Given the description of an element on the screen output the (x, y) to click on. 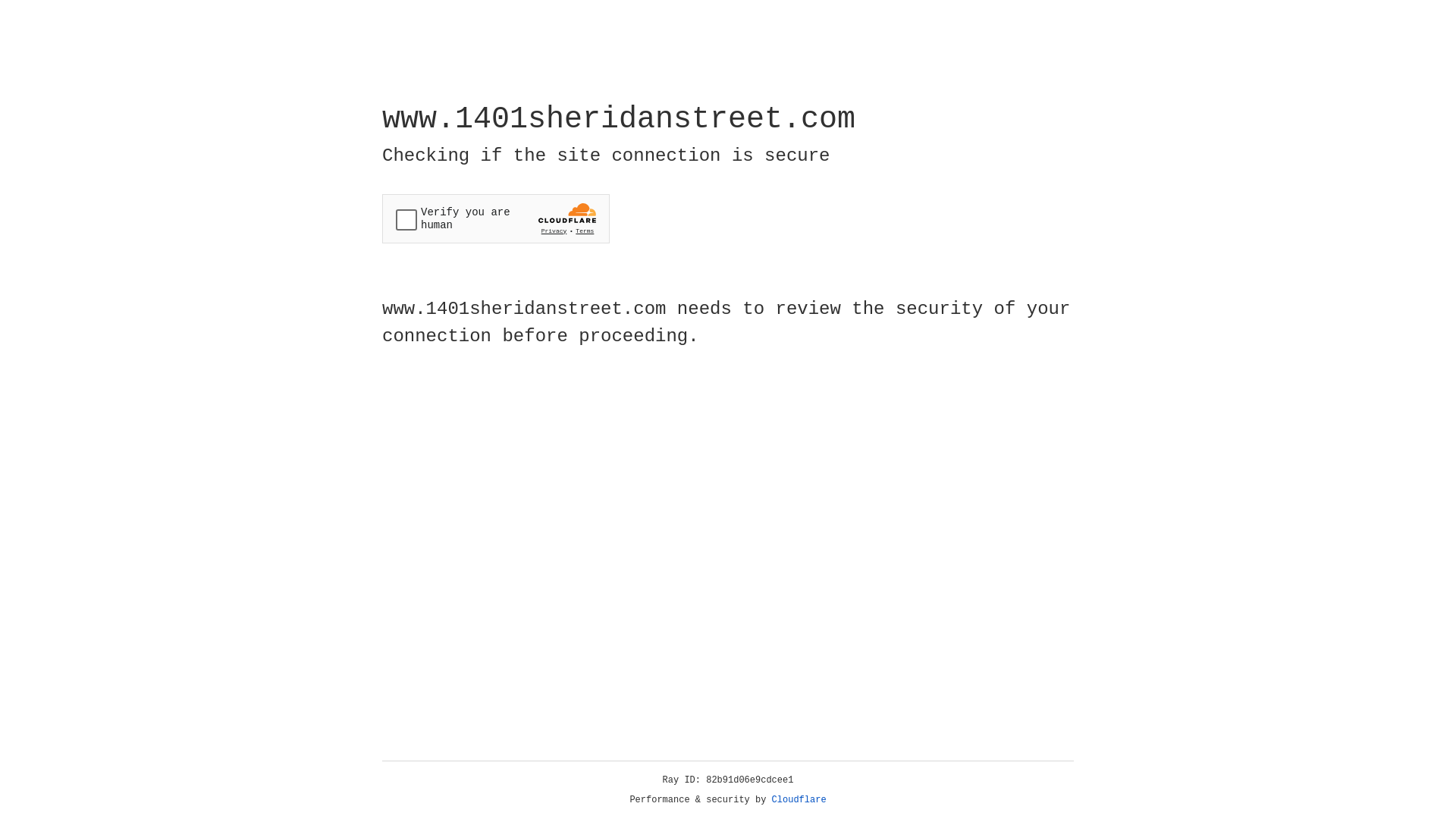
Widget containing a Cloudflare security challenge Element type: hover (495, 218)
Cloudflare Element type: text (798, 799)
